Given the description of an element on the screen output the (x, y) to click on. 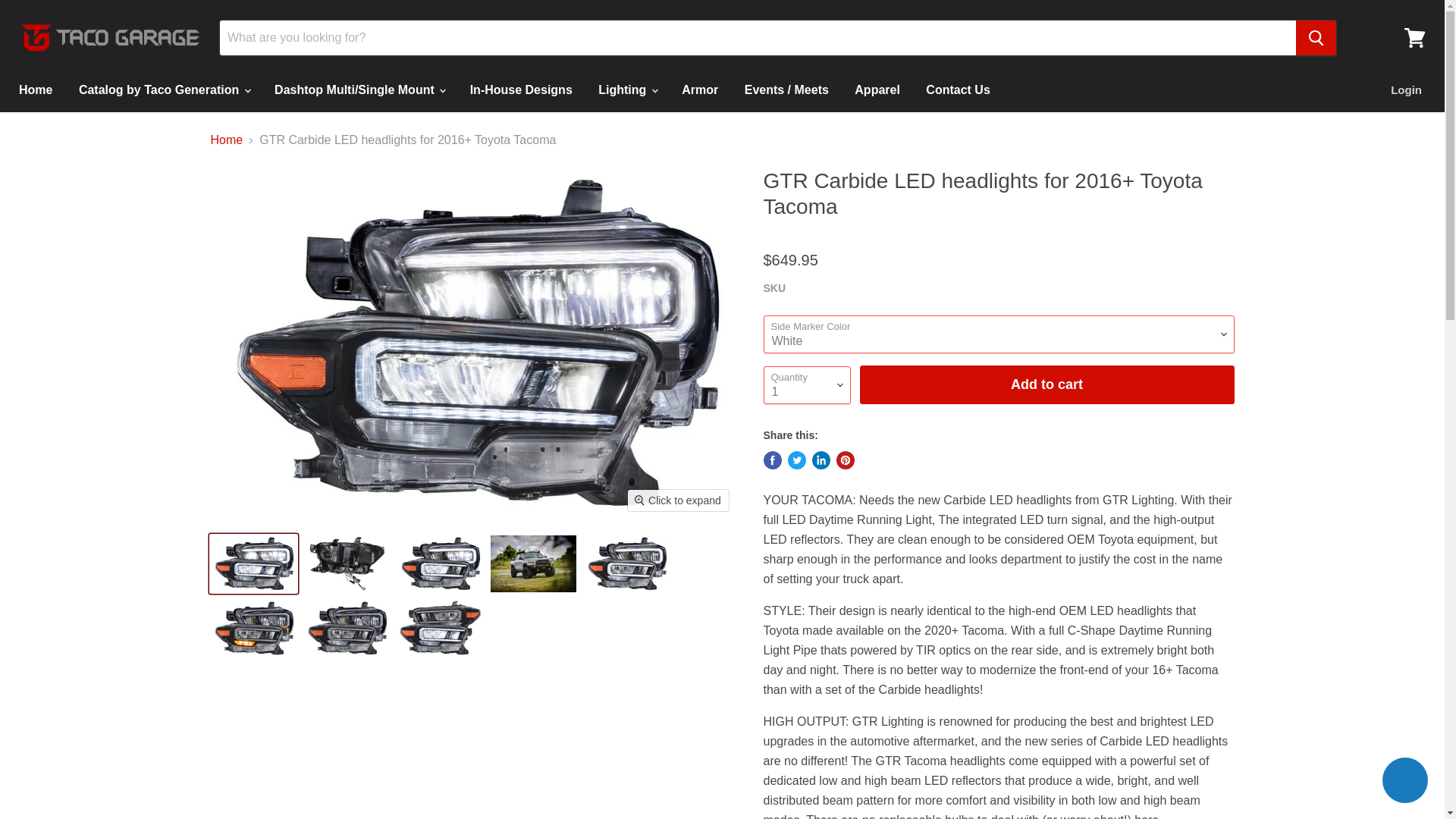
View cart (1414, 37)
Shopify online store chat (1404, 781)
Lighting (626, 90)
Catalog by Taco Generation (163, 90)
Home (35, 90)
In-House Designs (520, 90)
